Given the description of an element on the screen output the (x, y) to click on. 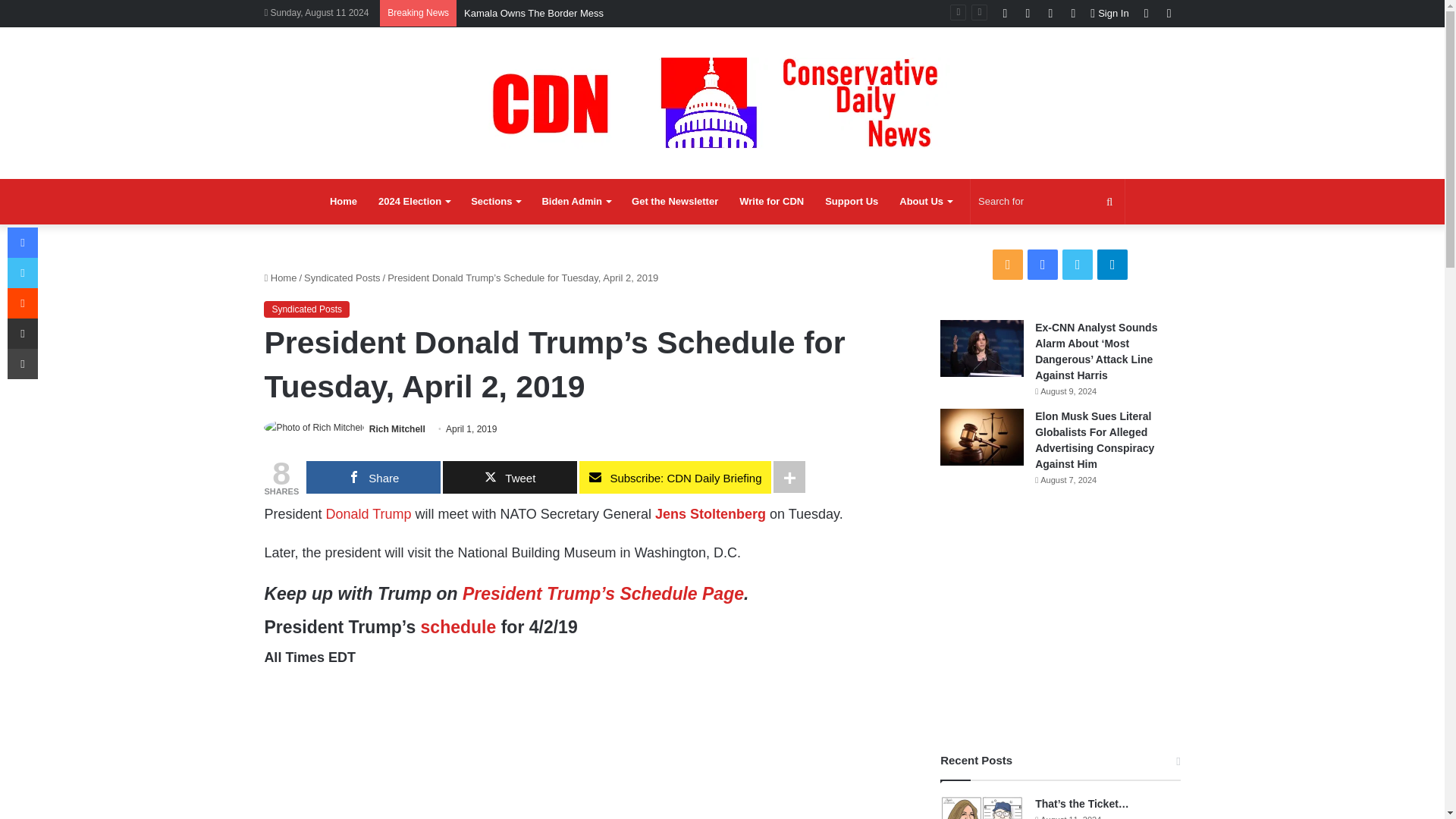
Sections (495, 201)
Rich Mitchell (397, 429)
About Us (925, 201)
Get the Newsletter (675, 201)
Home (343, 201)
Biden Admin (576, 201)
Search for (1047, 201)
Write for CDN (771, 201)
Kamala Owns The Border Mess (534, 12)
Support Us (850, 201)
